Given the description of an element on the screen output the (x, y) to click on. 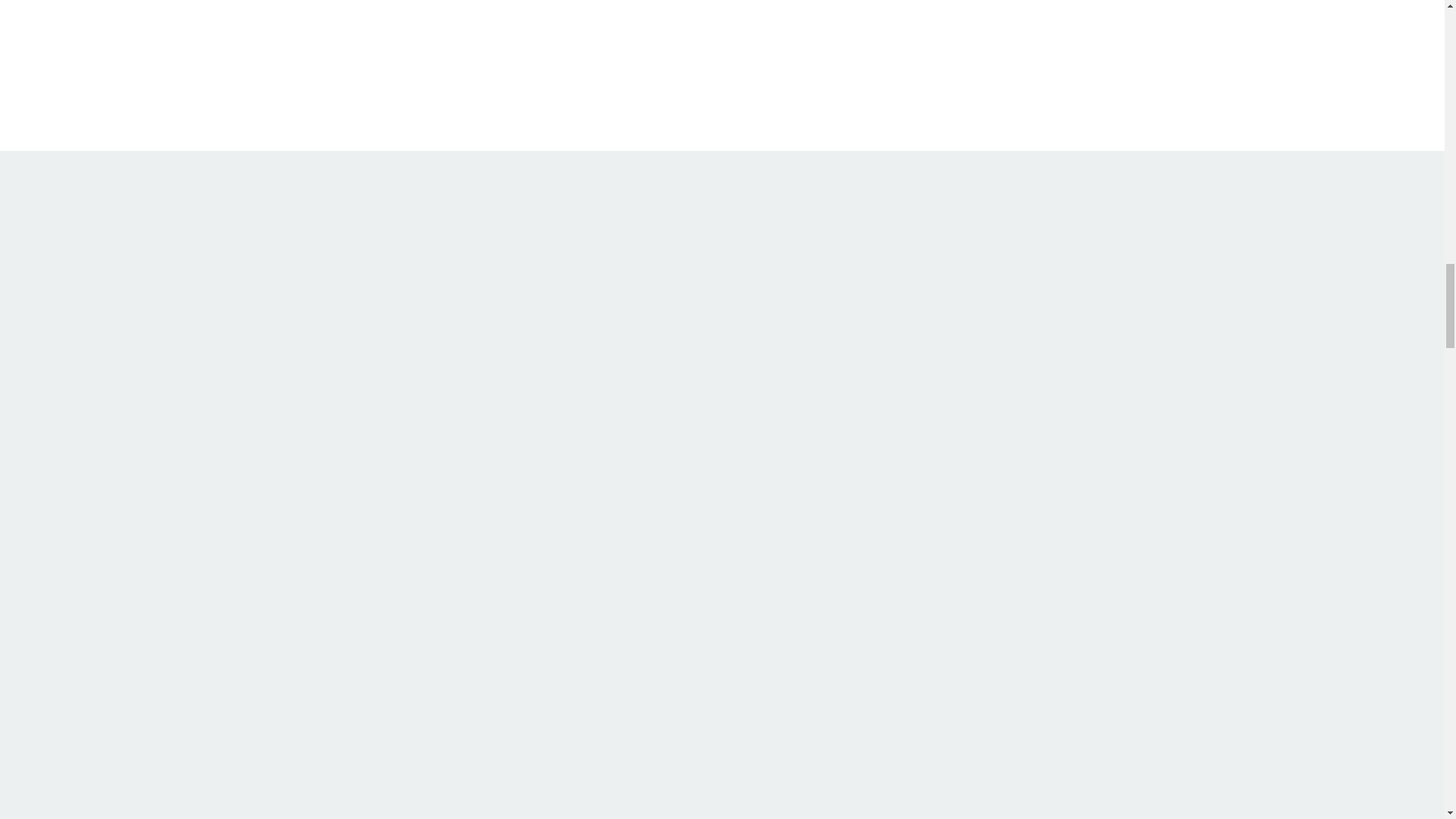
Click for FREE Access (419, 486)
Need To Sell A Home? (1264, 29)
Click to Learn How to Make Your Caregiving Journey Easier (671, 428)
28 Reasons Seniors Sell Their Home (814, 28)
Click to Recognize Key Changes (1161, 463)
Click For Types of Professionals You Need (917, 510)
Schedule a FREE Call or Meeting with Dave Halpern (1216, 90)
Questions That Seniors Ask About Real Estate (523, 90)
Already Signed Up? Click To Login (332, 28)
